Given the description of an element on the screen output the (x, y) to click on. 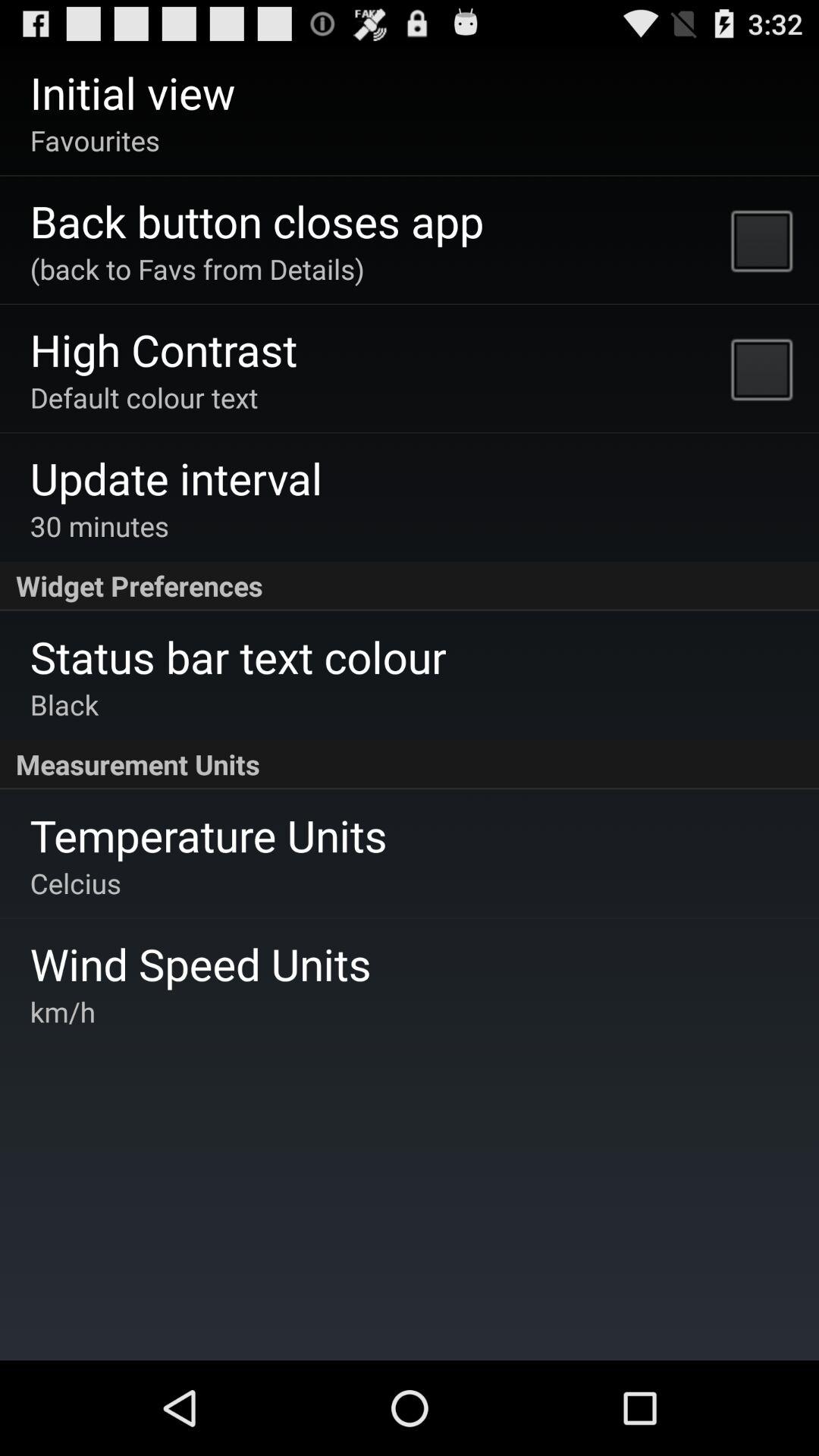
press the wind speed units (200, 963)
